Given the description of an element on the screen output the (x, y) to click on. 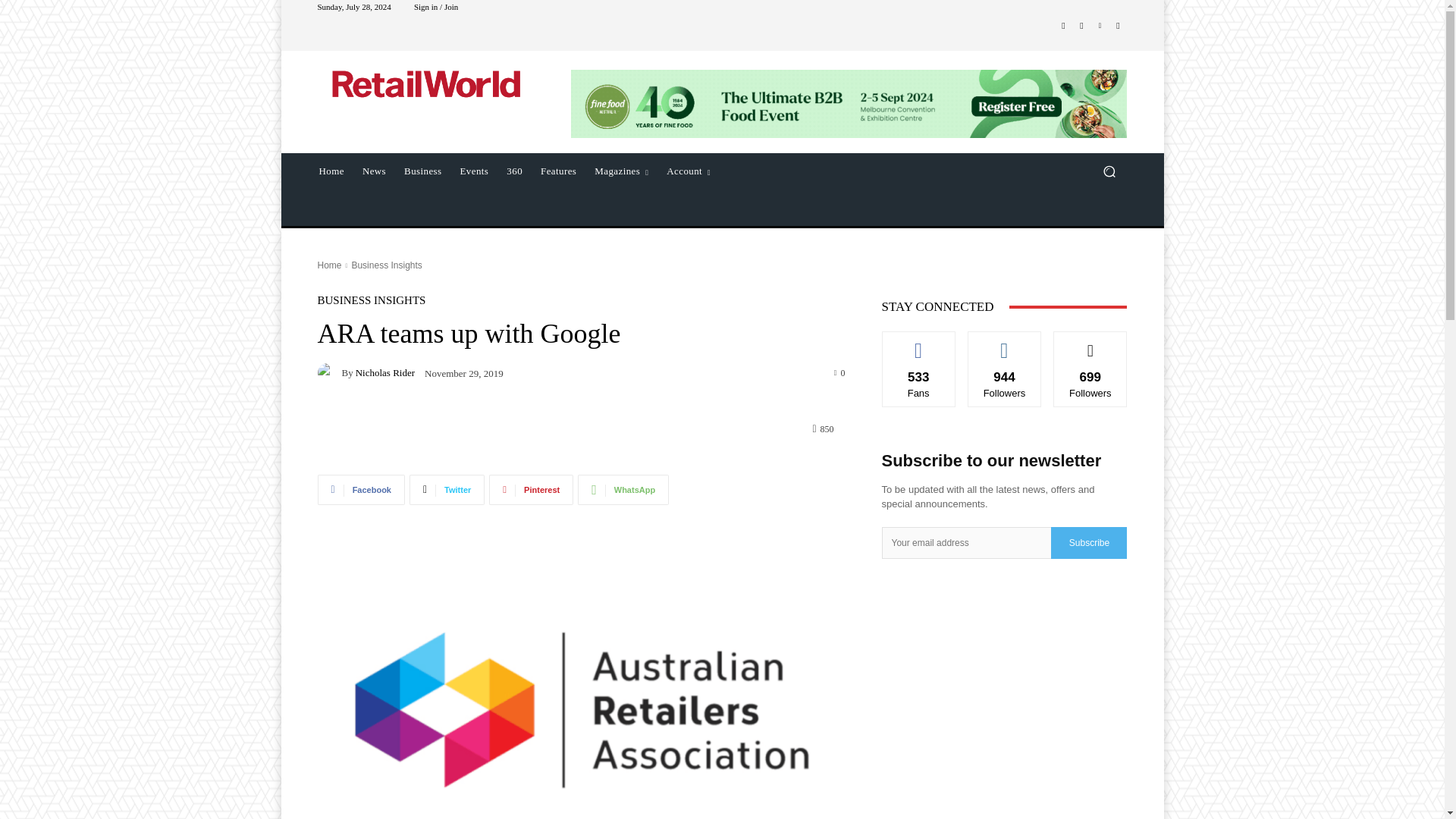
WhatsApp (623, 490)
Nicholas Rider (328, 373)
Events (474, 171)
Home (330, 171)
Facebook (360, 490)
Features (558, 171)
Home (328, 265)
Facebook (1062, 25)
Pinterest (531, 490)
360 (514, 171)
Magazines (621, 171)
Twitter (446, 490)
Instagram (1080, 25)
News (373, 171)
Business (421, 171)
